Given the description of an element on the screen output the (x, y) to click on. 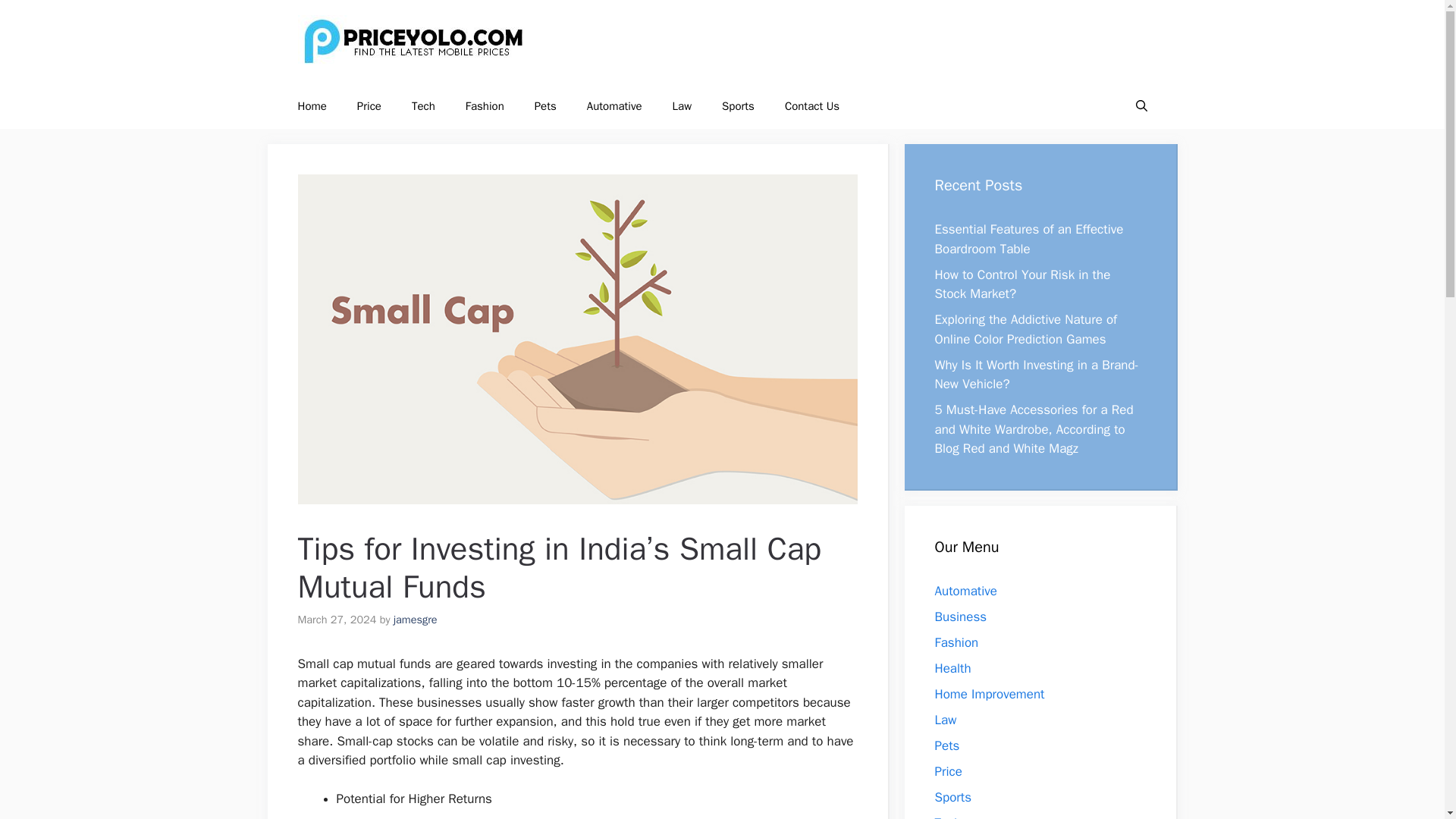
Law (945, 719)
Law (682, 105)
Tech (947, 816)
View all posts by jamesgre (415, 619)
Automative (615, 105)
Home Improvement (988, 693)
Essential Features of an Effective Boardroom Table (1028, 239)
Sports (738, 105)
Contact Us (812, 105)
Health (952, 667)
